Given the description of an element on the screen output the (x, y) to click on. 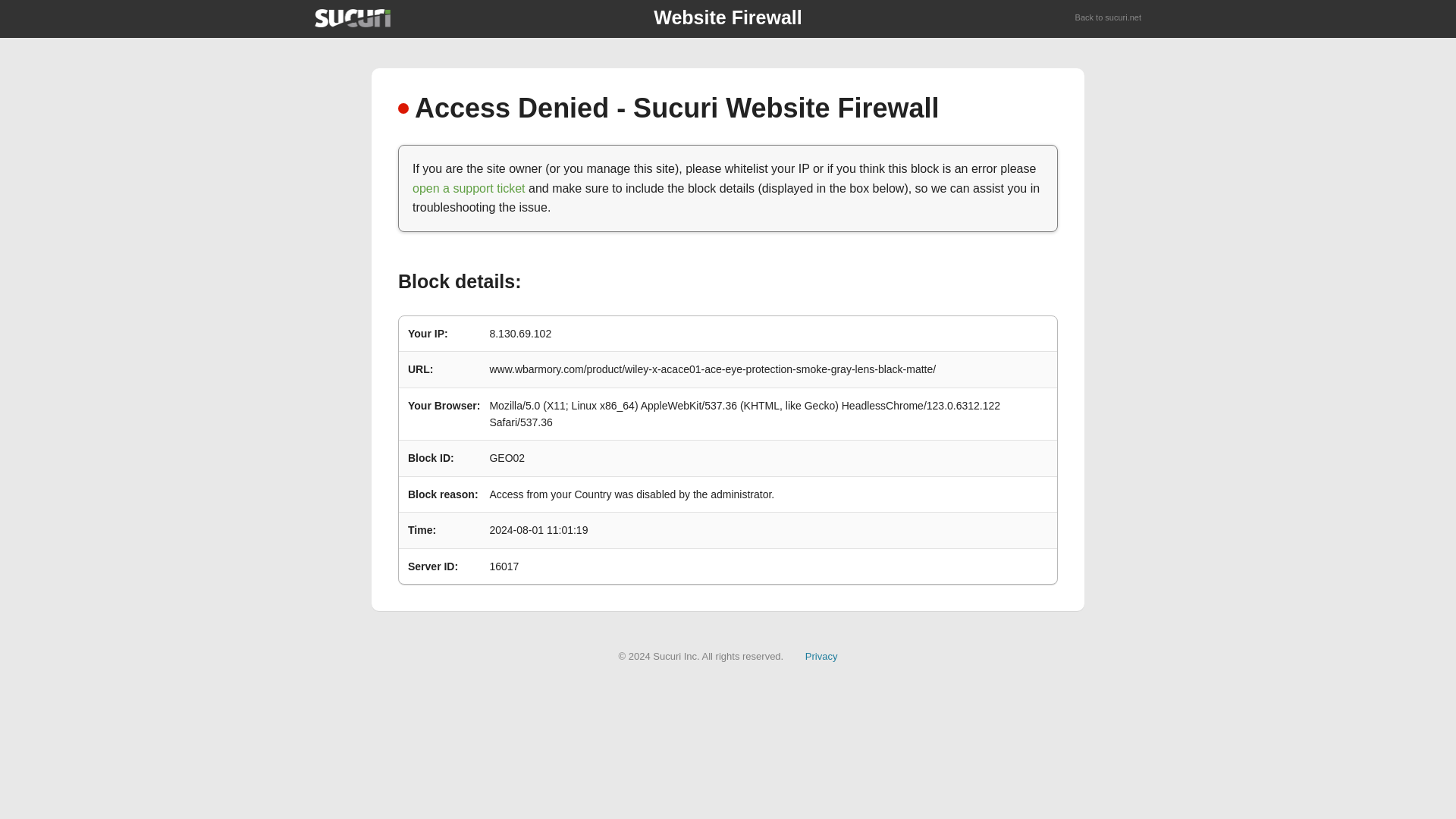
Privacy (821, 655)
open a support ticket (468, 187)
Back to sucuri.net (1108, 18)
